Given the description of an element on the screen output the (x, y) to click on. 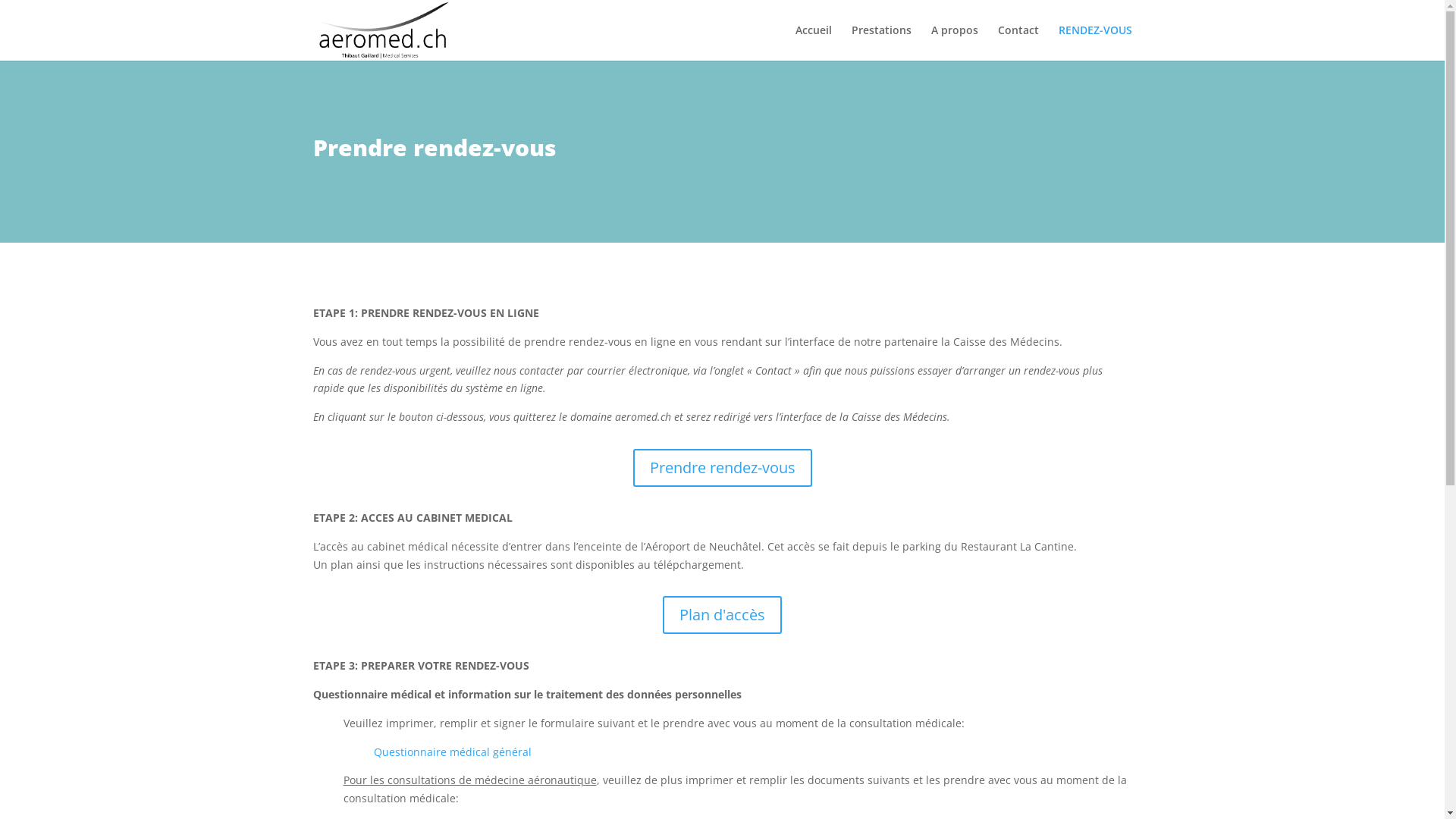
A propos Element type: text (954, 42)
Prestations Element type: text (880, 42)
Contact Element type: text (1017, 42)
Accueil Element type: text (812, 42)
Prendre rendez-vous Element type: text (721, 467)
RENDEZ-VOUS Element type: text (1095, 42)
